Given the description of an element on the screen output the (x, y) to click on. 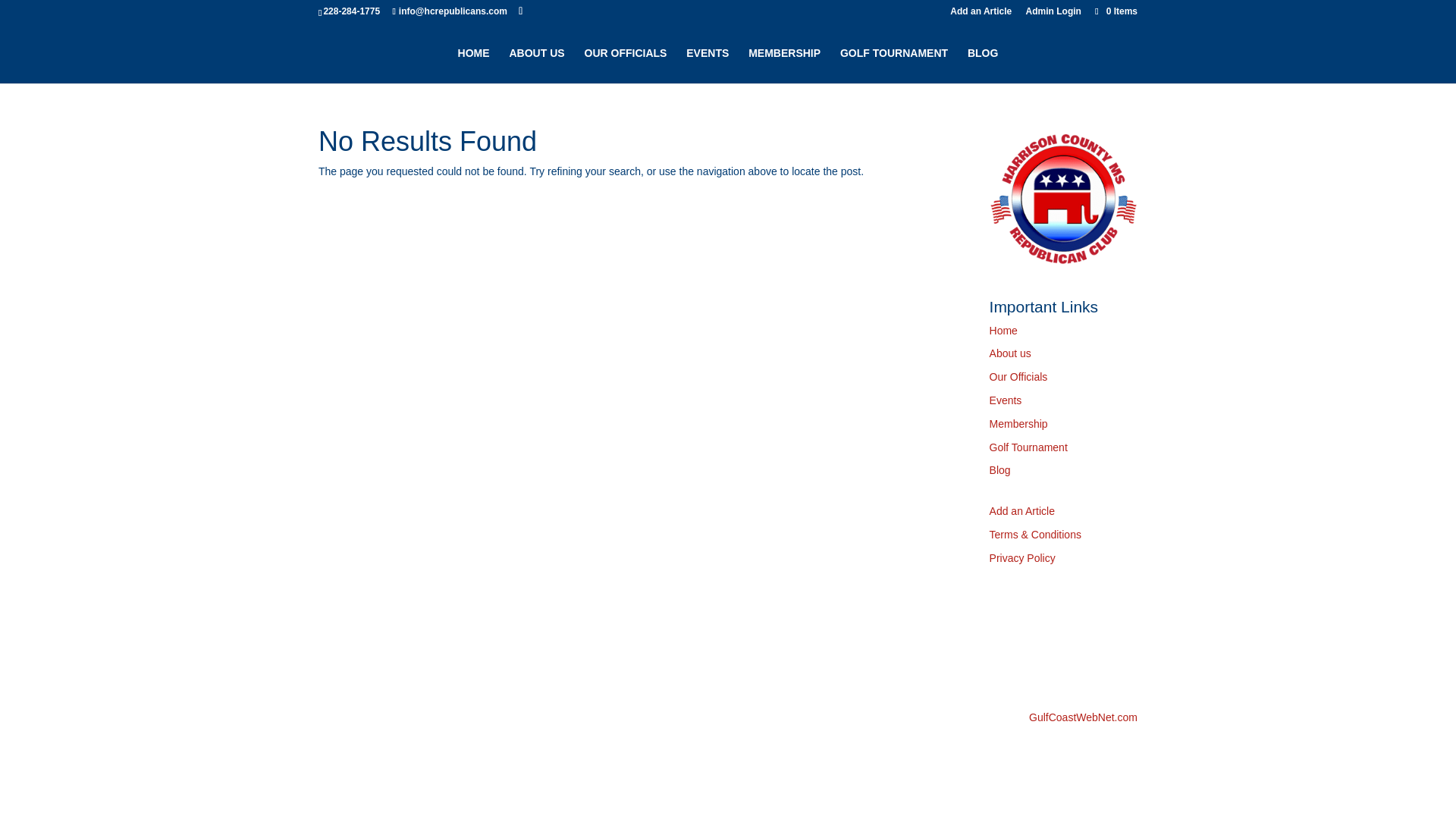
Add an Article (351, 681)
OUR OFFICIALS (624, 65)
228-284-1775 (351, 10)
Membership (1019, 423)
Add an Article (980, 14)
Golf Tournament (1028, 447)
MEMBERSHIP (784, 65)
GOLF TOURNAMENT (893, 65)
Home (1003, 330)
Privacy Policy (1022, 558)
